Given the description of an element on the screen output the (x, y) to click on. 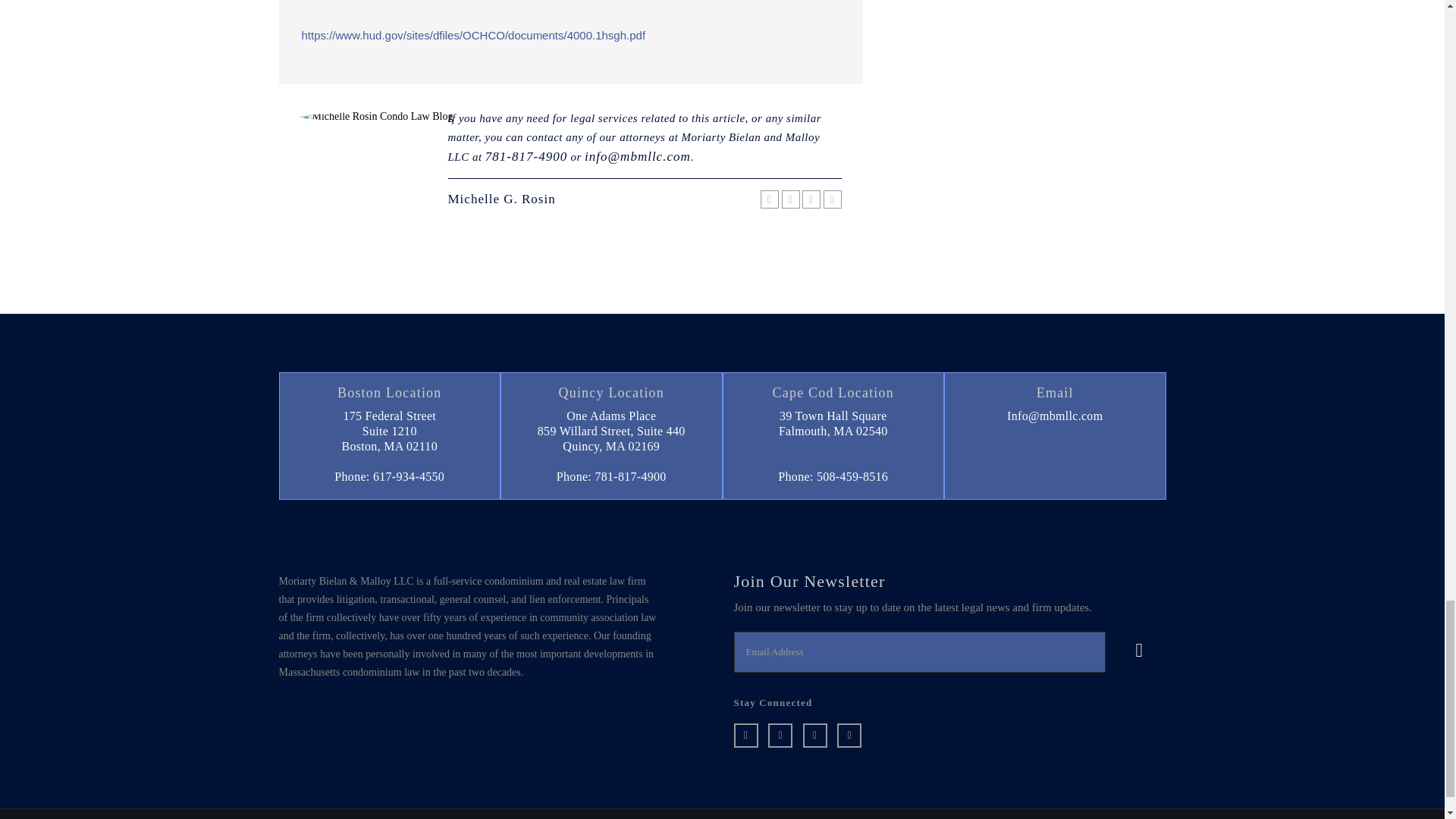
Facebook (832, 199)
Facebook (849, 735)
Linkedin (745, 735)
Twitter (780, 735)
Linkedin (769, 199)
Twitter (789, 199)
